Given the description of an element on the screen output the (x, y) to click on. 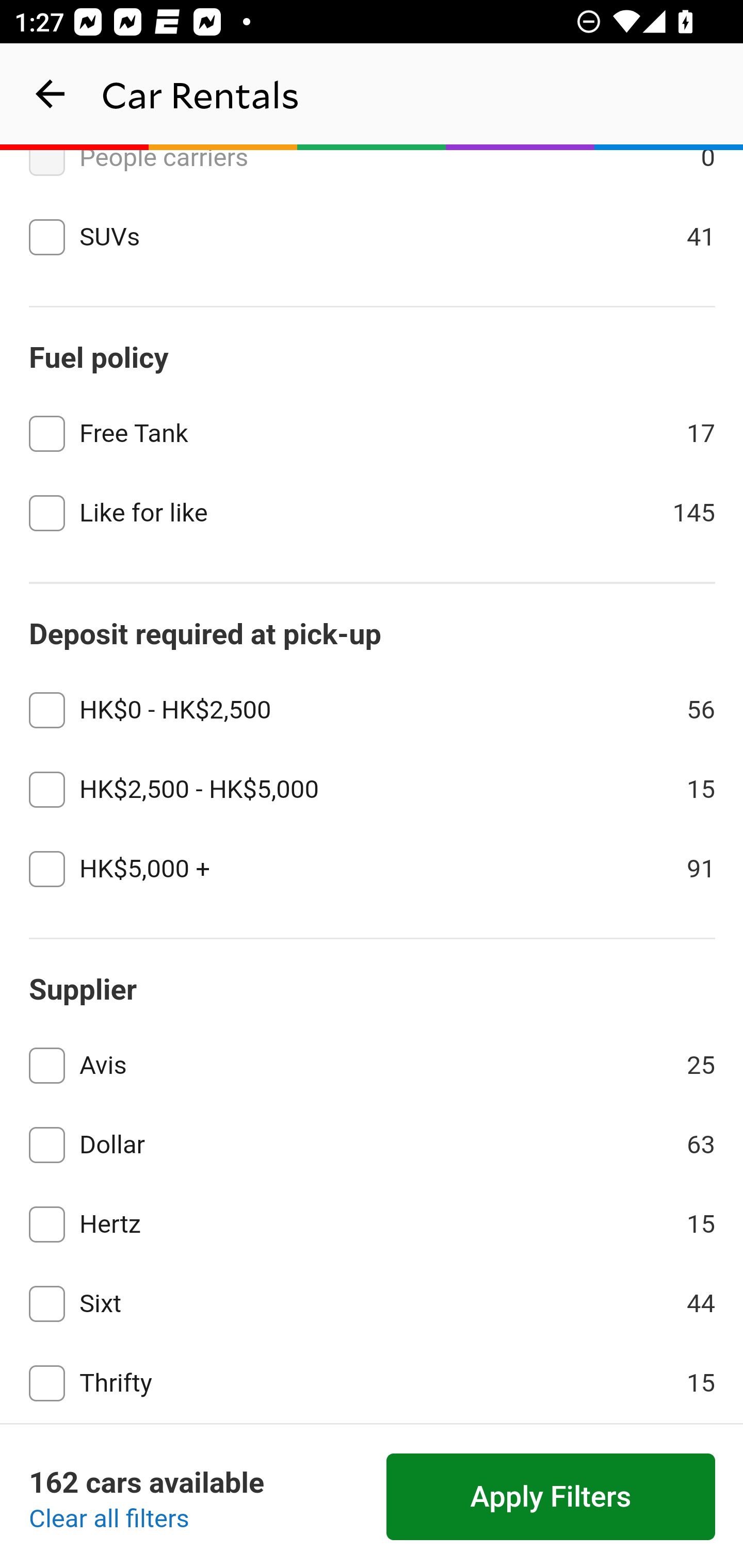
navigation_button (50, 93)
Apply Filters (551, 1497)
Clear all filters (108, 1519)
